Given the description of an element on the screen output the (x, y) to click on. 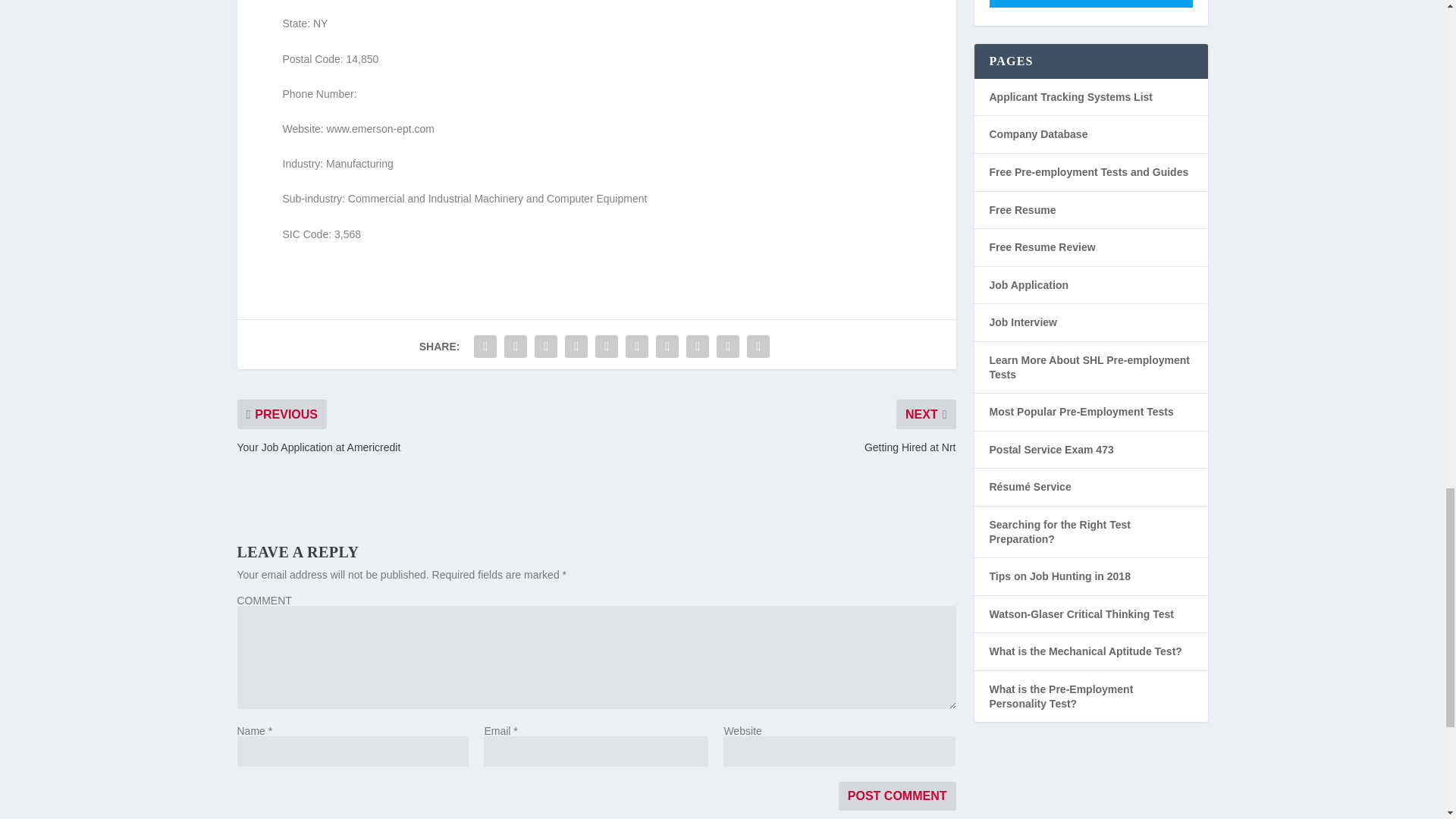
Post Comment (897, 796)
Post Comment (897, 796)
